Given the description of an element on the screen output the (x, y) to click on. 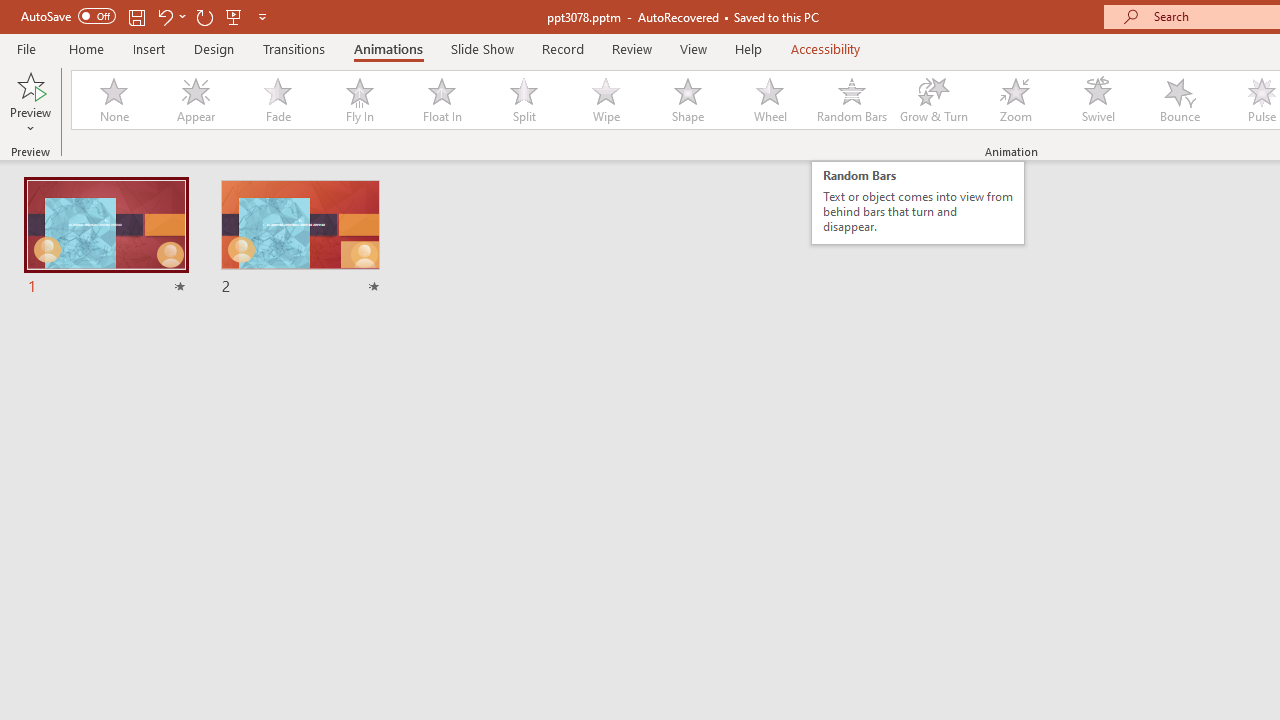
Swivel (1098, 100)
Shape (687, 100)
Wipe (605, 100)
Split (523, 100)
Wheel (770, 100)
Random Bars (852, 100)
